Given the description of an element on the screen output the (x, y) to click on. 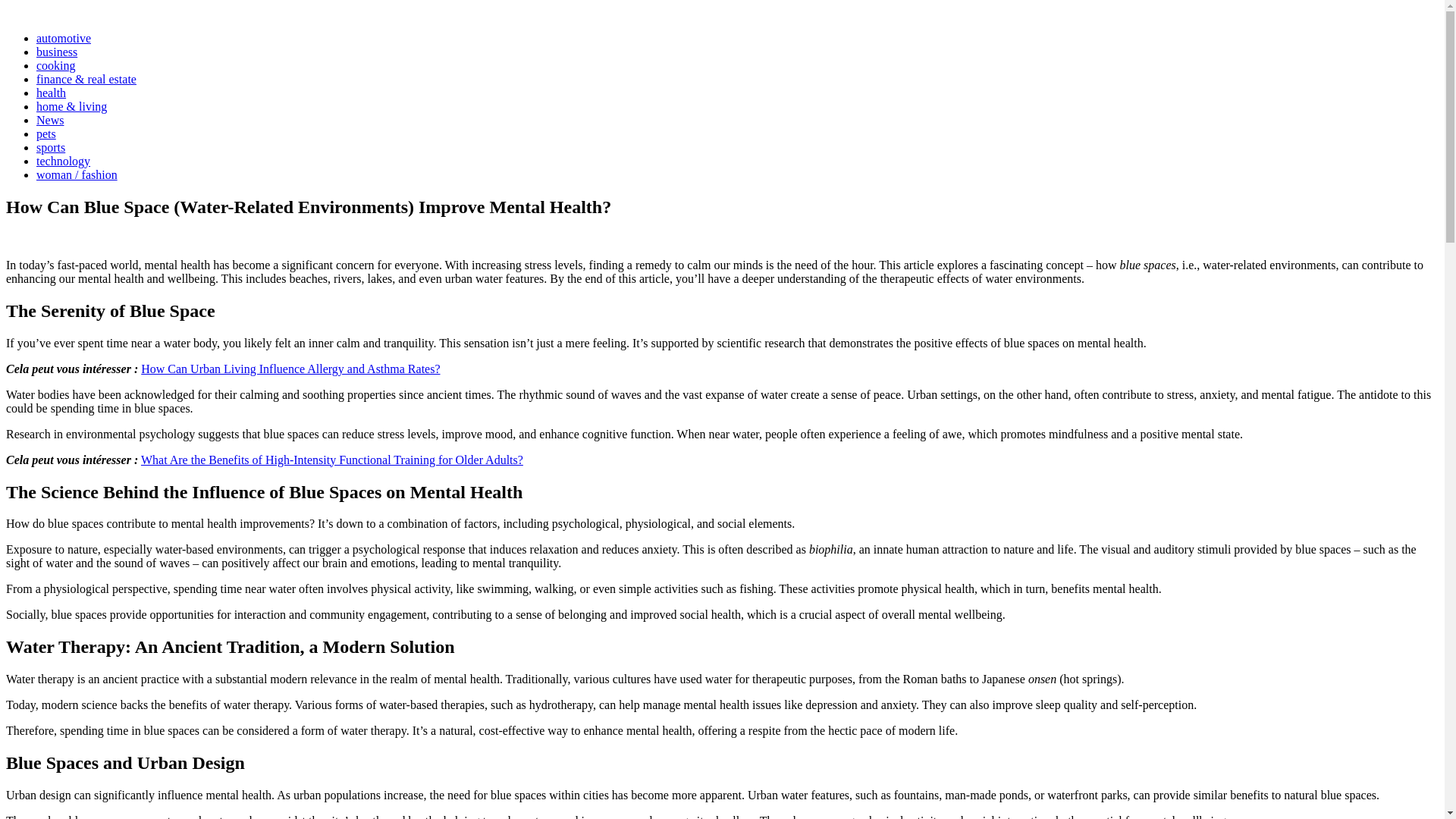
cooking (55, 65)
technology (63, 160)
health (50, 92)
How Can Urban Living Influence Allergy and Asthma Rates? (290, 368)
sports (50, 146)
News (50, 119)
business (56, 51)
pets (46, 133)
automotive (63, 38)
